Given the description of an element on the screen output the (x, y) to click on. 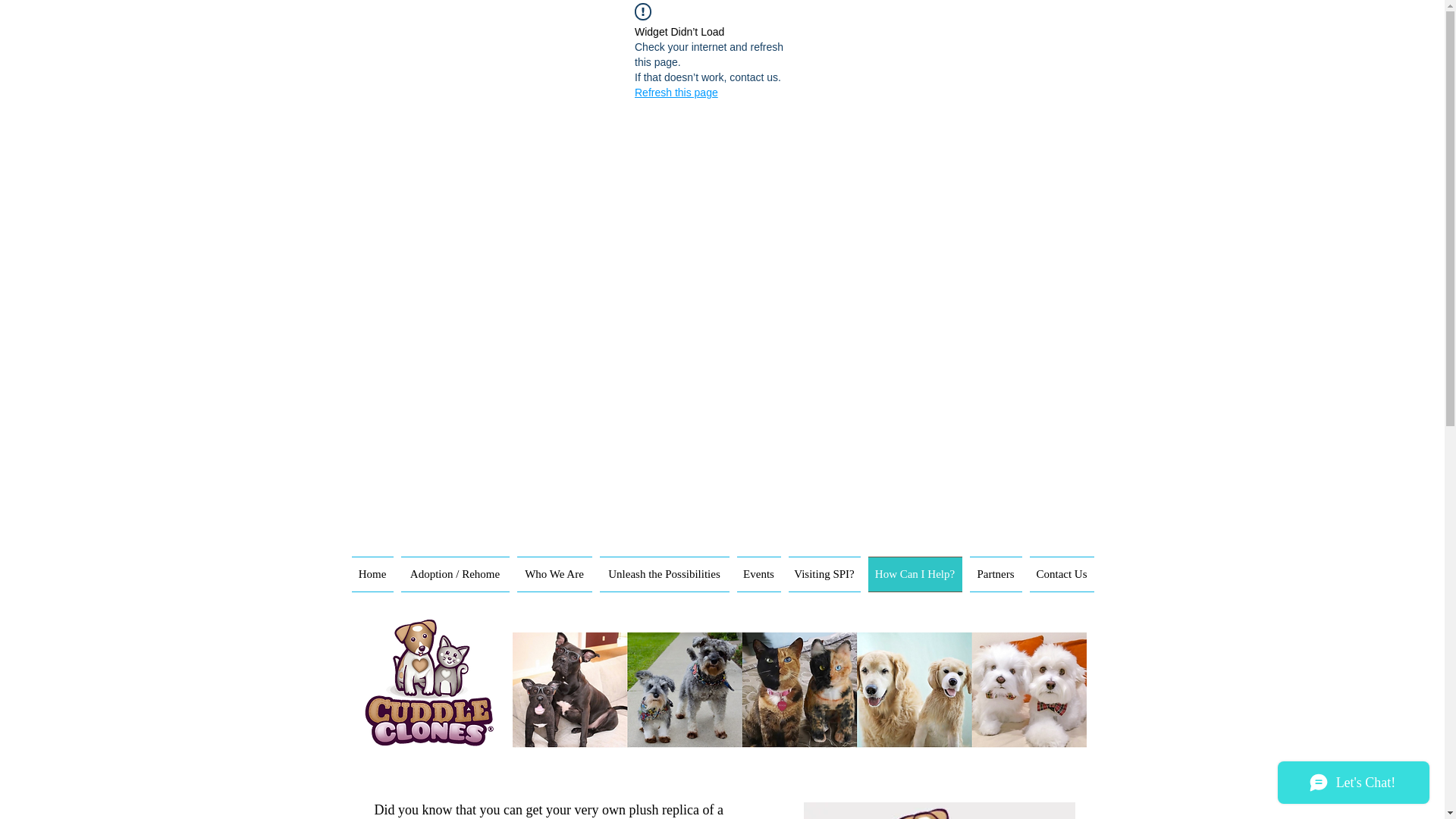
Refresh this page (675, 92)
Unleash the Possibilities (664, 574)
Contact Us (1059, 574)
Home (374, 574)
How Can I Help? (915, 574)
Visiting SPI? (823, 574)
Events (758, 574)
Who We Are (553, 574)
Partners (996, 574)
